Given the description of an element on the screen output the (x, y) to click on. 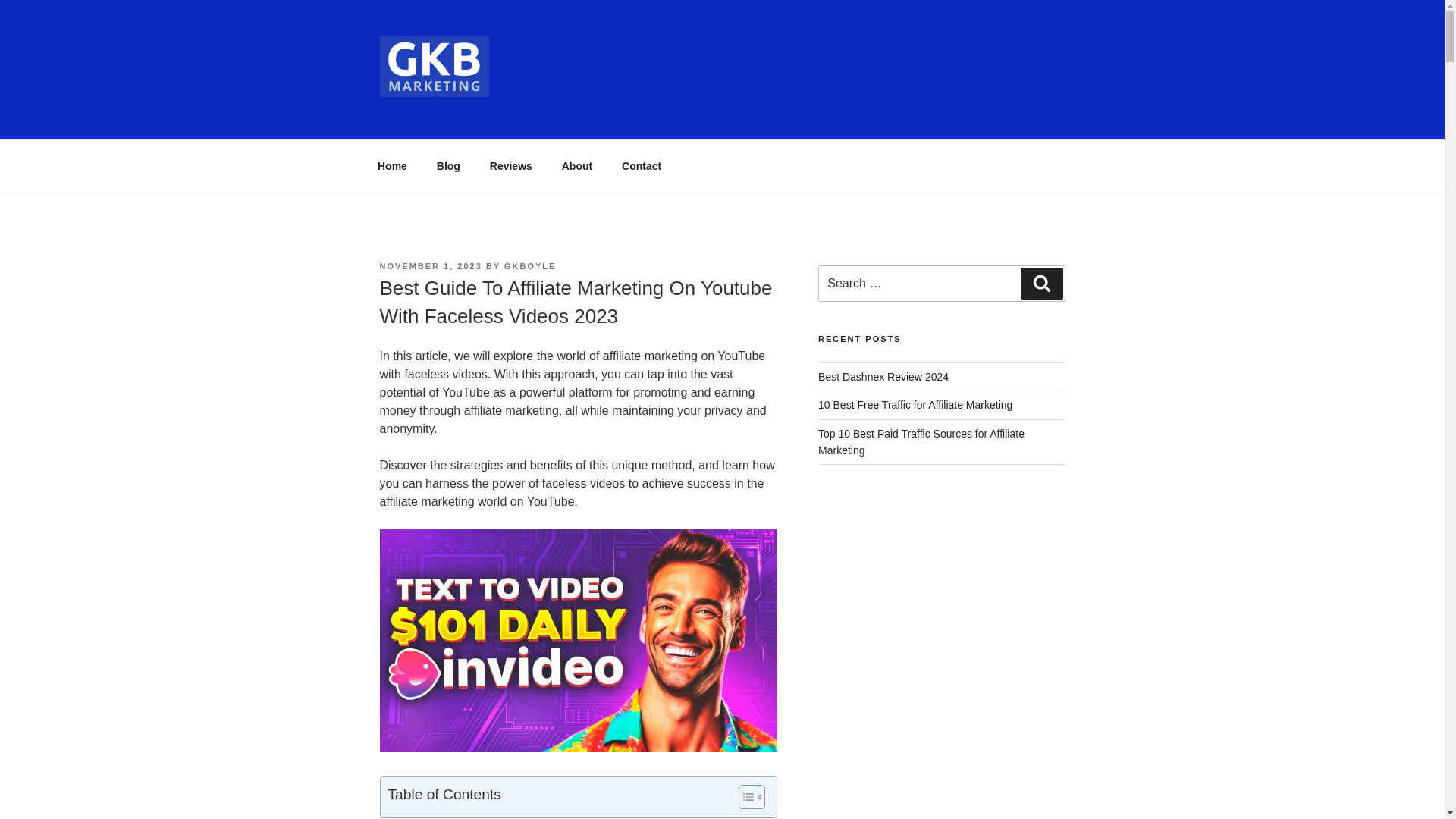
About (576, 165)
NOVEMBER 1, 2023 (429, 266)
Home (392, 165)
Contact (641, 165)
Reviews (510, 165)
Blog (448, 165)
GKB MARKETING (509, 119)
GKBOYLE (529, 266)
Affiliate Marketing On Youtube With Faceless Videos (577, 640)
